Given the description of an element on the screen output the (x, y) to click on. 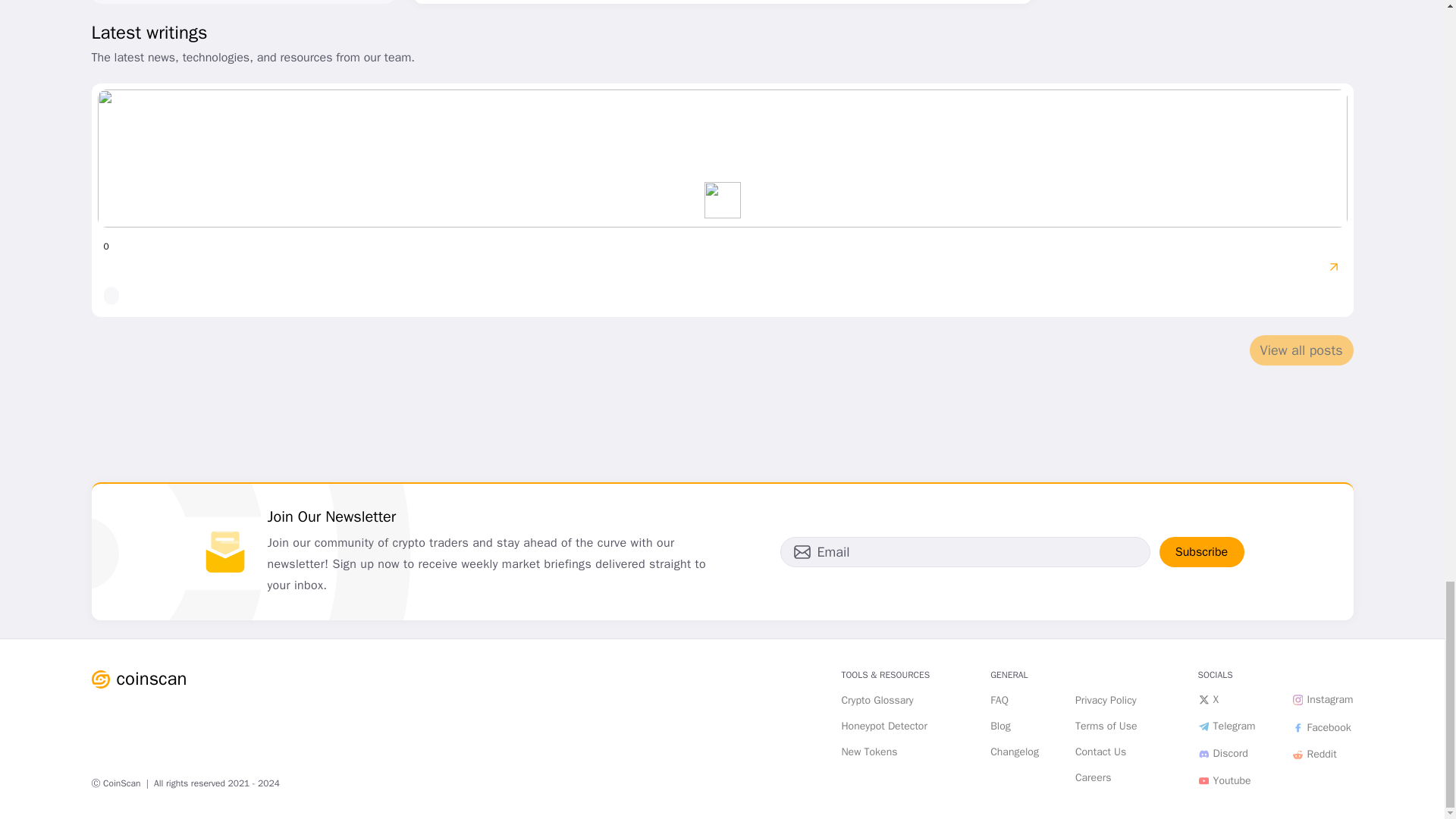
CoinScan newTokens (868, 752)
CoinScan blog (1000, 726)
CoinScan privacyPolicy (1106, 700)
CoinScan faq (999, 700)
CoinScan changelog (1014, 752)
CoinScan termsOfUse (1106, 726)
CoinScan glossary (876, 700)
CoinScan honeypotDetector (884, 726)
